Given the description of an element on the screen output the (x, y) to click on. 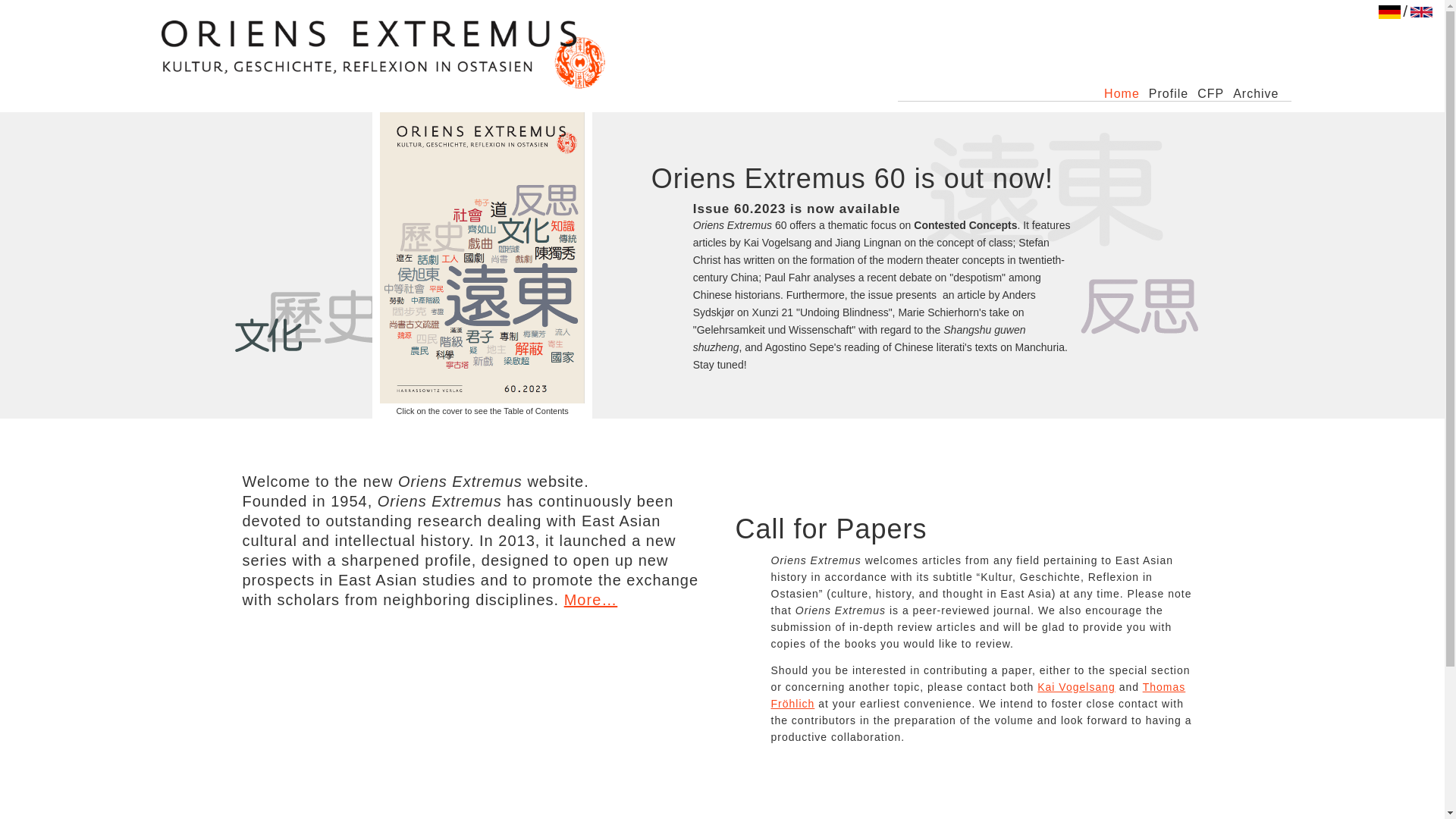
CFP (1210, 93)
Profile (1168, 93)
Home (1121, 93)
Archive (1255, 93)
Kai Vogelsang (1075, 686)
